Given the description of an element on the screen output the (x, y) to click on. 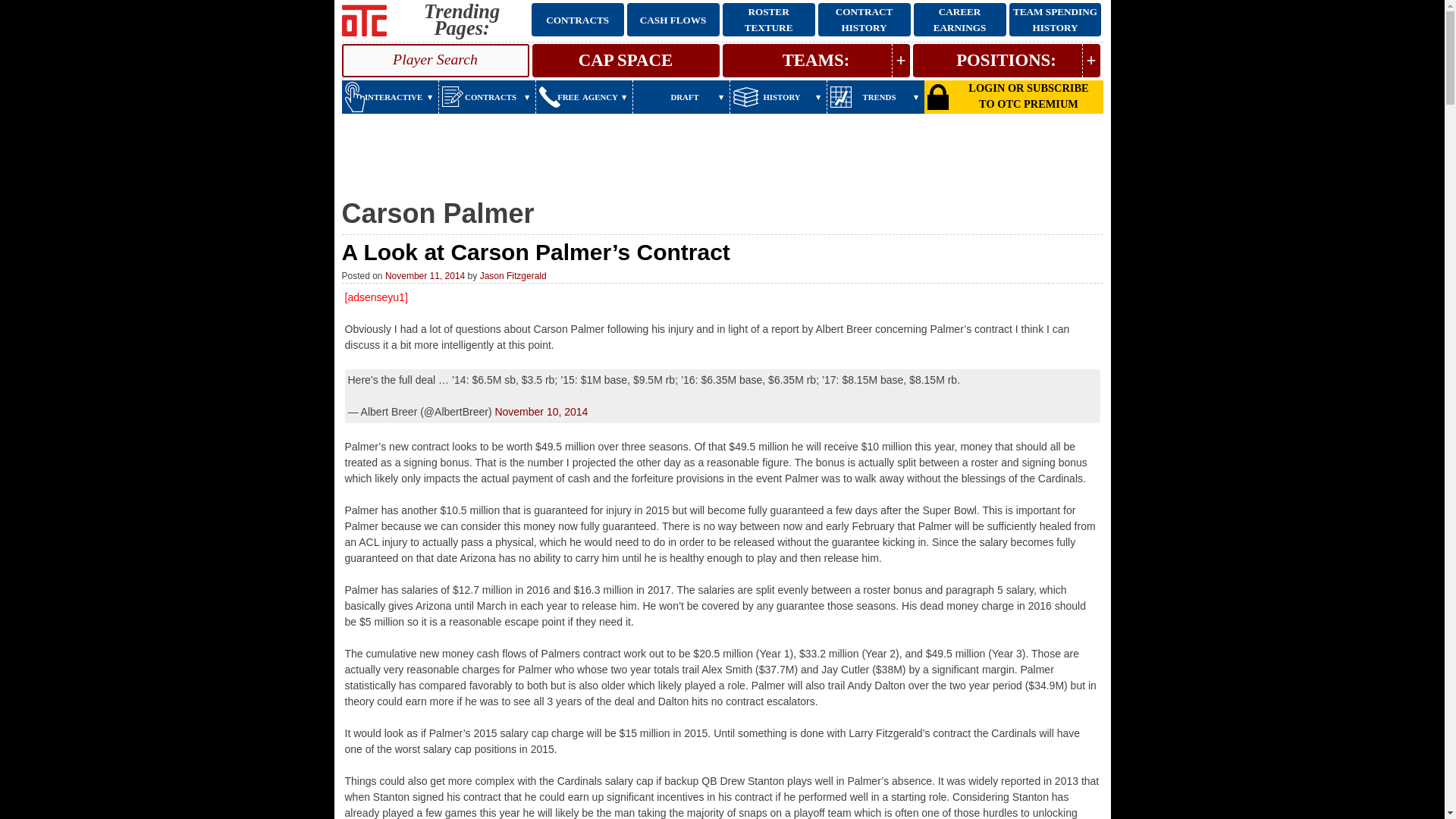
CONTRACTS (577, 19)
ROSTER TEXTURE (768, 19)
CASH FLOWS (673, 19)
CAREER EARNINGS (960, 19)
CAP SPACE (625, 60)
CONTRACT HISTORY (864, 19)
TEAM SPENDING HISTORY (1054, 19)
